Given the description of an element on the screen output the (x, y) to click on. 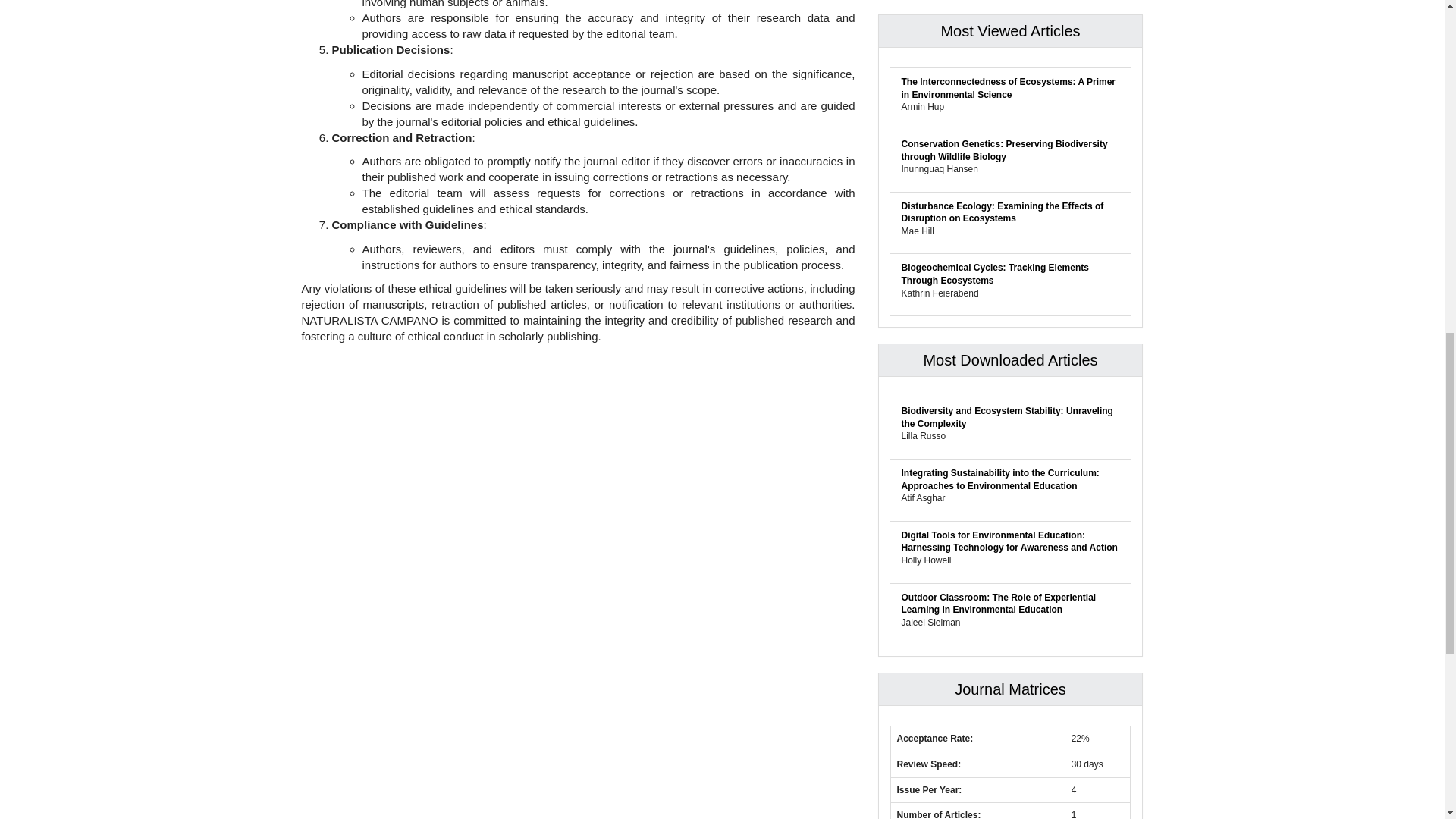
Biogeochemical Cycles: Tracking Elements Through Ecosystems (994, 273)
